Given the description of an element on the screen output the (x, y) to click on. 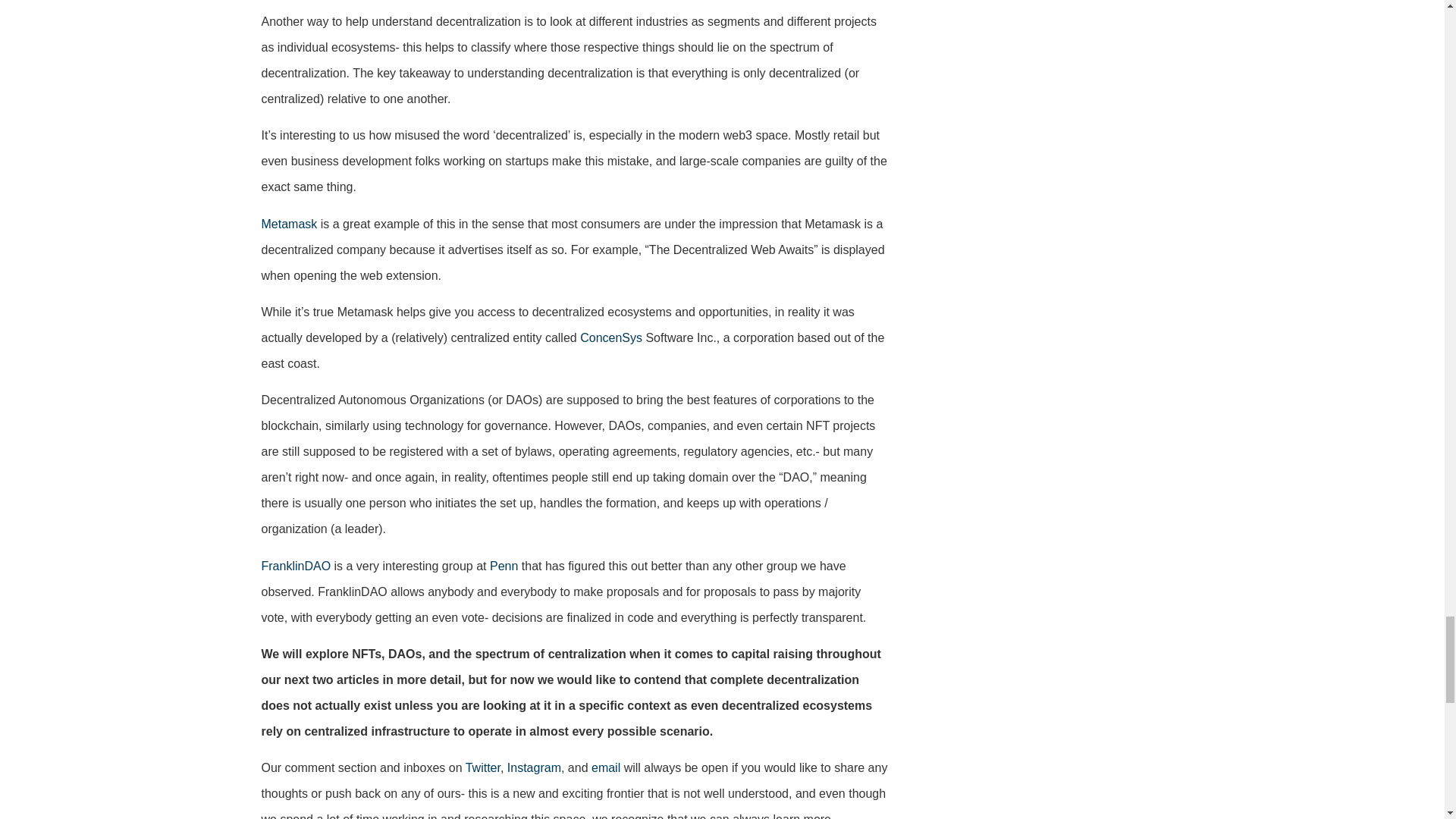
Instagram (533, 767)
ConcenSys (610, 337)
FranklinDAO (295, 565)
Metamask (288, 223)
Twitter (482, 767)
Penn (503, 565)
email (605, 767)
